Given the description of an element on the screen output the (x, y) to click on. 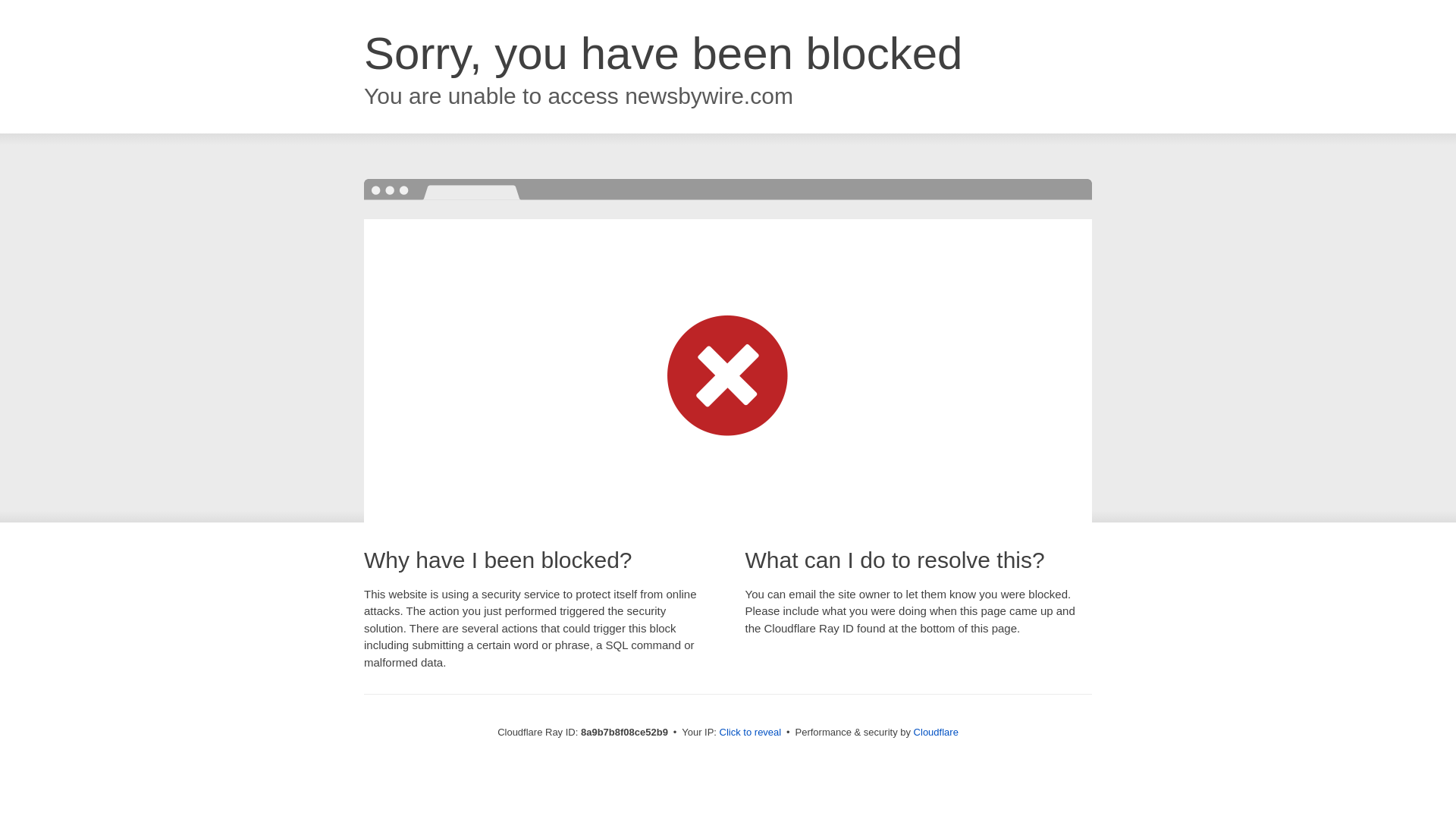
Cloudflare (936, 731)
Click to reveal (750, 732)
